Given the description of an element on the screen output the (x, y) to click on. 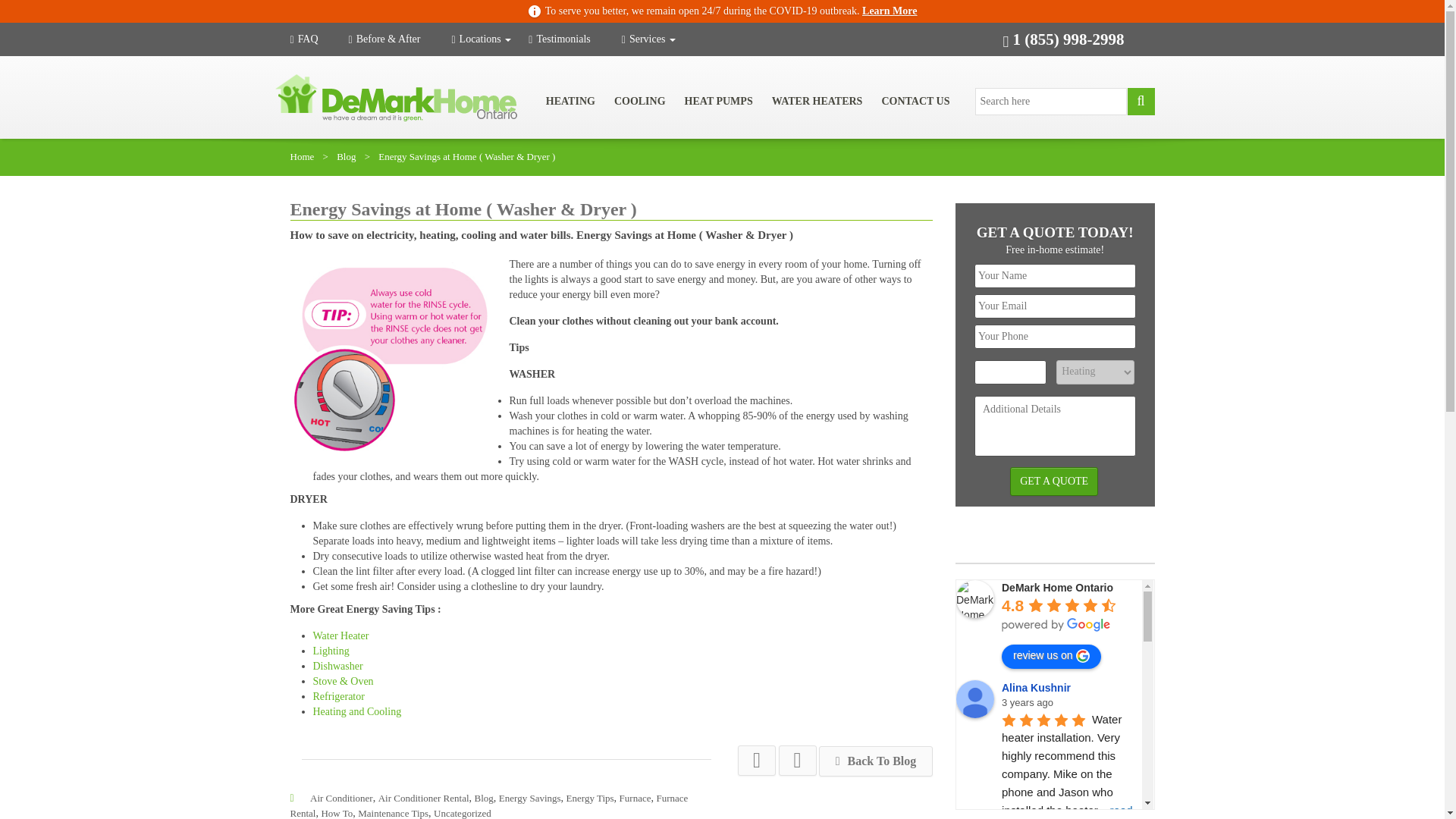
Locations (480, 38)
FAQ (318, 38)
Testimonials (574, 38)
FAQ (318, 38)
Learn More (889, 10)
Locations (480, 38)
Services (648, 38)
Get A Quote (1053, 481)
